Given the description of an element on the screen output the (x, y) to click on. 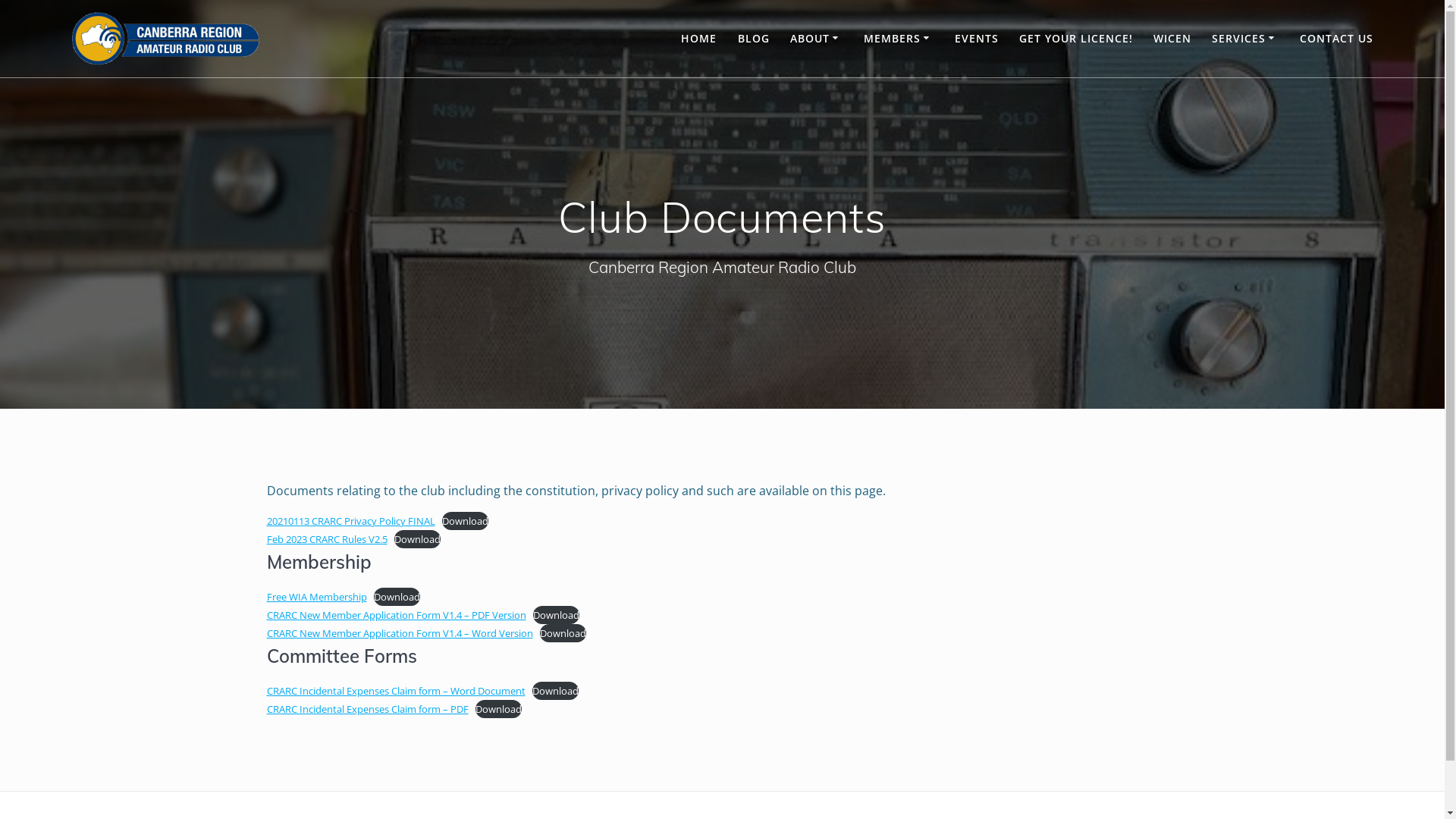
Download Element type: text (417, 539)
SERVICES Element type: text (1245, 38)
WICEN Element type: text (1172, 38)
CONTACT US Element type: text (1336, 38)
Download Element type: text (498, 708)
20210113 CRARC Privacy Policy FINAL Element type: text (350, 520)
BLOG Element type: text (753, 38)
Download Element type: text (396, 596)
Download Element type: text (562, 633)
Download Element type: text (555, 690)
Download Element type: text (465, 520)
HOME Element type: text (698, 38)
EVENTS Element type: text (976, 38)
MEMBERS Element type: text (898, 38)
GET YOUR LICENCE! Element type: text (1075, 38)
Feb 2023 CRARC Rules V2.5 Element type: text (326, 539)
Free WIA Membership Element type: text (316, 596)
Download Element type: text (556, 614)
ABOUT Element type: text (816, 38)
